Given the description of an element on the screen output the (x, y) to click on. 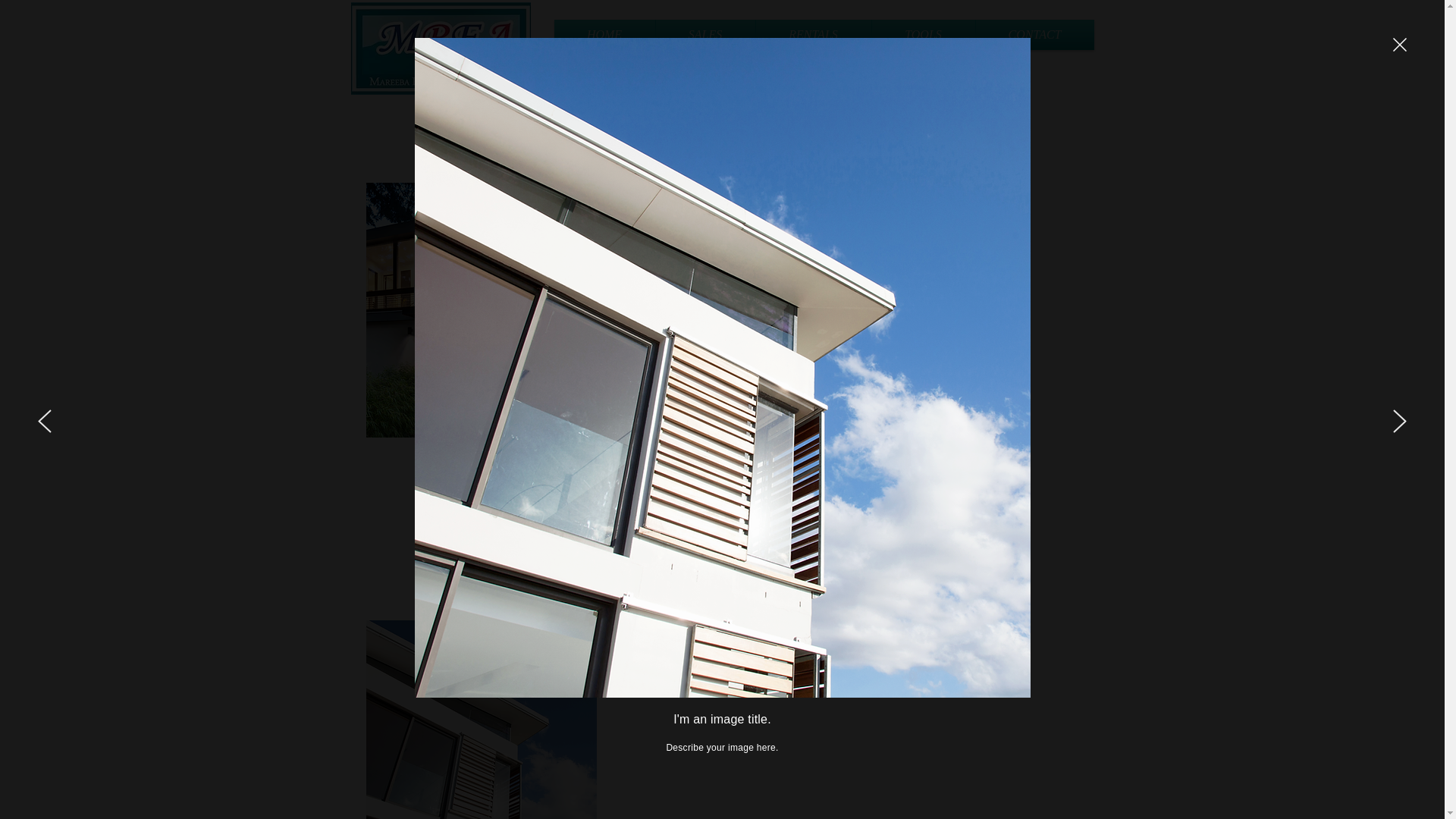
SALES Element type: text (704, 34)
CONTACT Element type: text (1034, 34)
VIEW ALL RESIDENTIAL Element type: text (721, 477)
RENTALS Element type: text (812, 34)
HOME Element type: text (603, 34)
MREA Logo 2015.jpg Element type: hover (440, 47)
TOOLS Element type: text (923, 34)
